Given the description of an element on the screen output the (x, y) to click on. 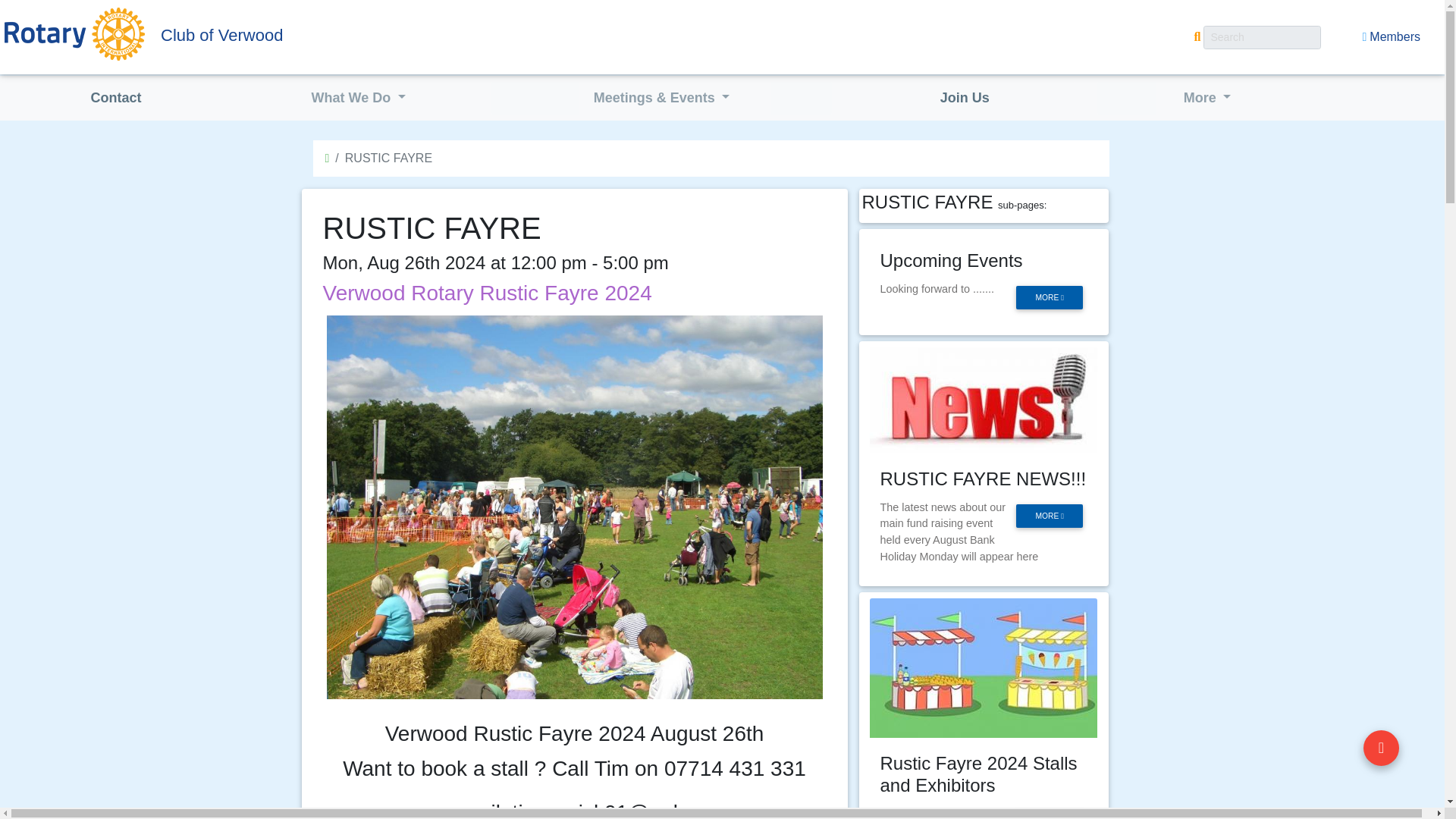
What We Do (358, 97)
Members (1390, 37)
Contact (115, 97)
Club of Verwood (299, 35)
